Given the description of an element on the screen output the (x, y) to click on. 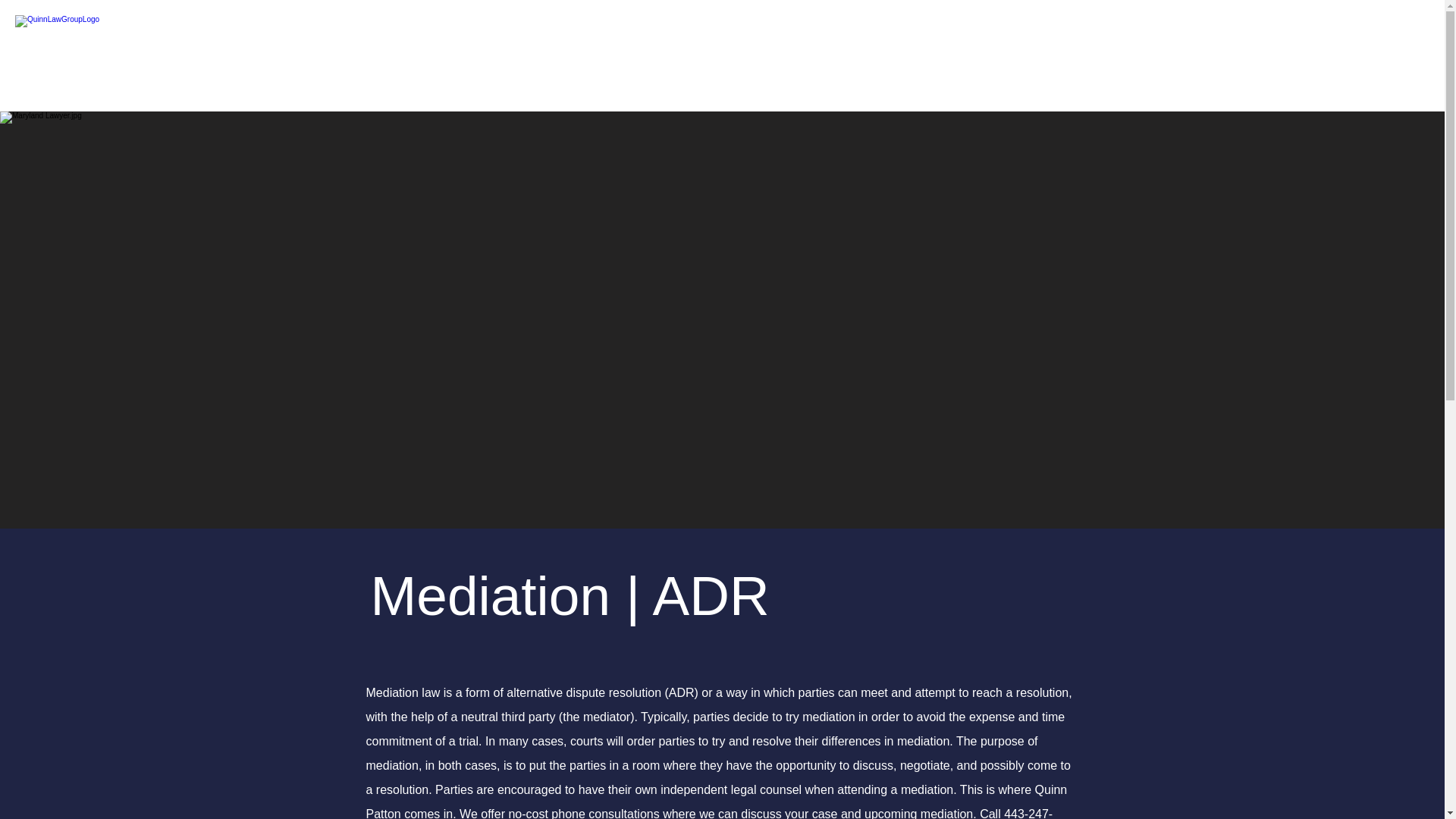
Business Law (571, 59)
202-508-3644 (1220, 47)
Call 443-247-5444 (708, 813)
EEOC (864, 59)
Employment (979, 59)
Contact (1098, 59)
HR Legal Services (730, 59)
